Given the description of an element on the screen output the (x, y) to click on. 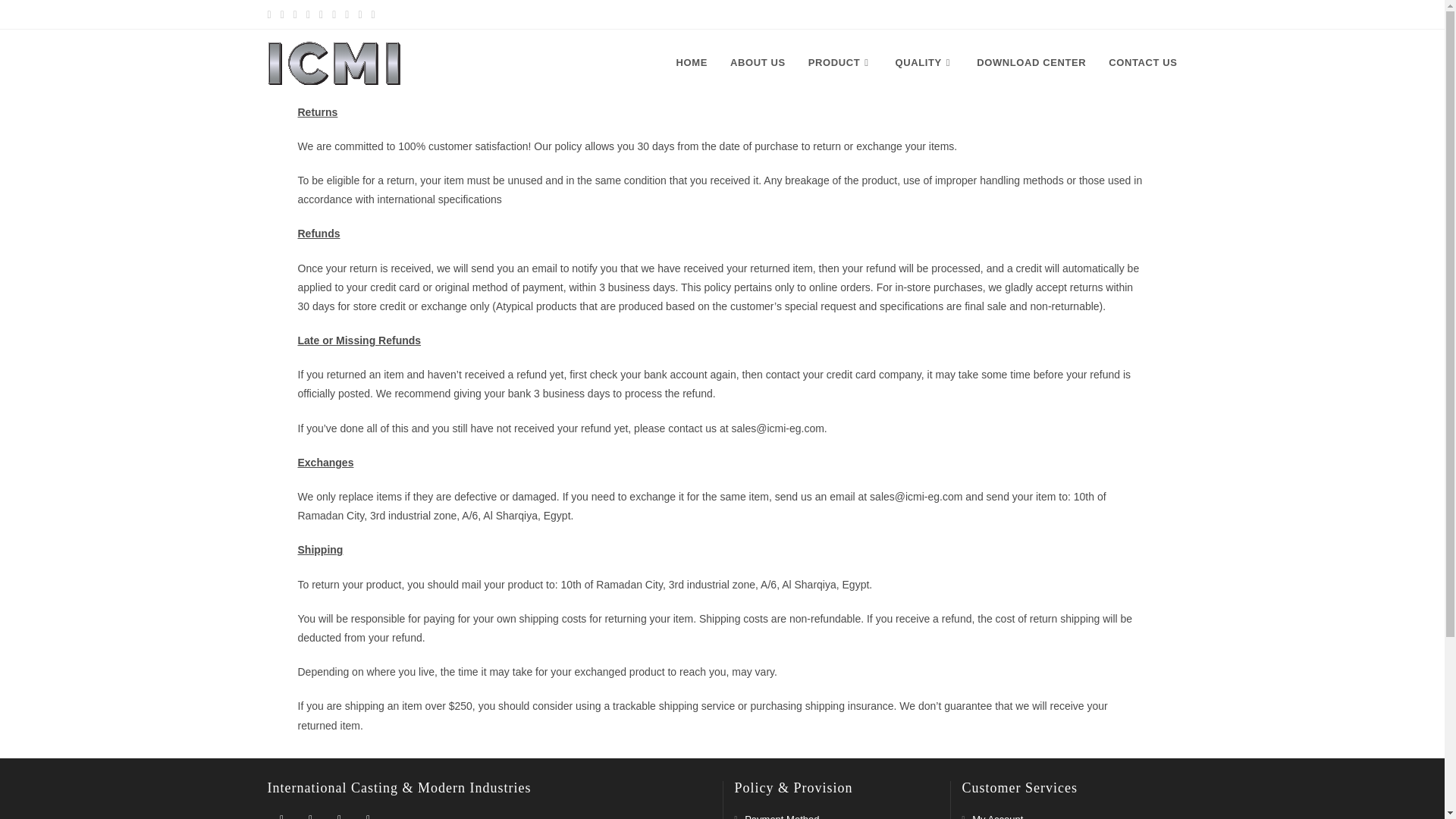
PRODUCT (839, 62)
CONTACT US (1142, 62)
HOME (692, 62)
ABOUT US (757, 62)
DOWNLOAD CENTER (1031, 62)
QUALITY (924, 62)
